Given the description of an element on the screen output the (x, y) to click on. 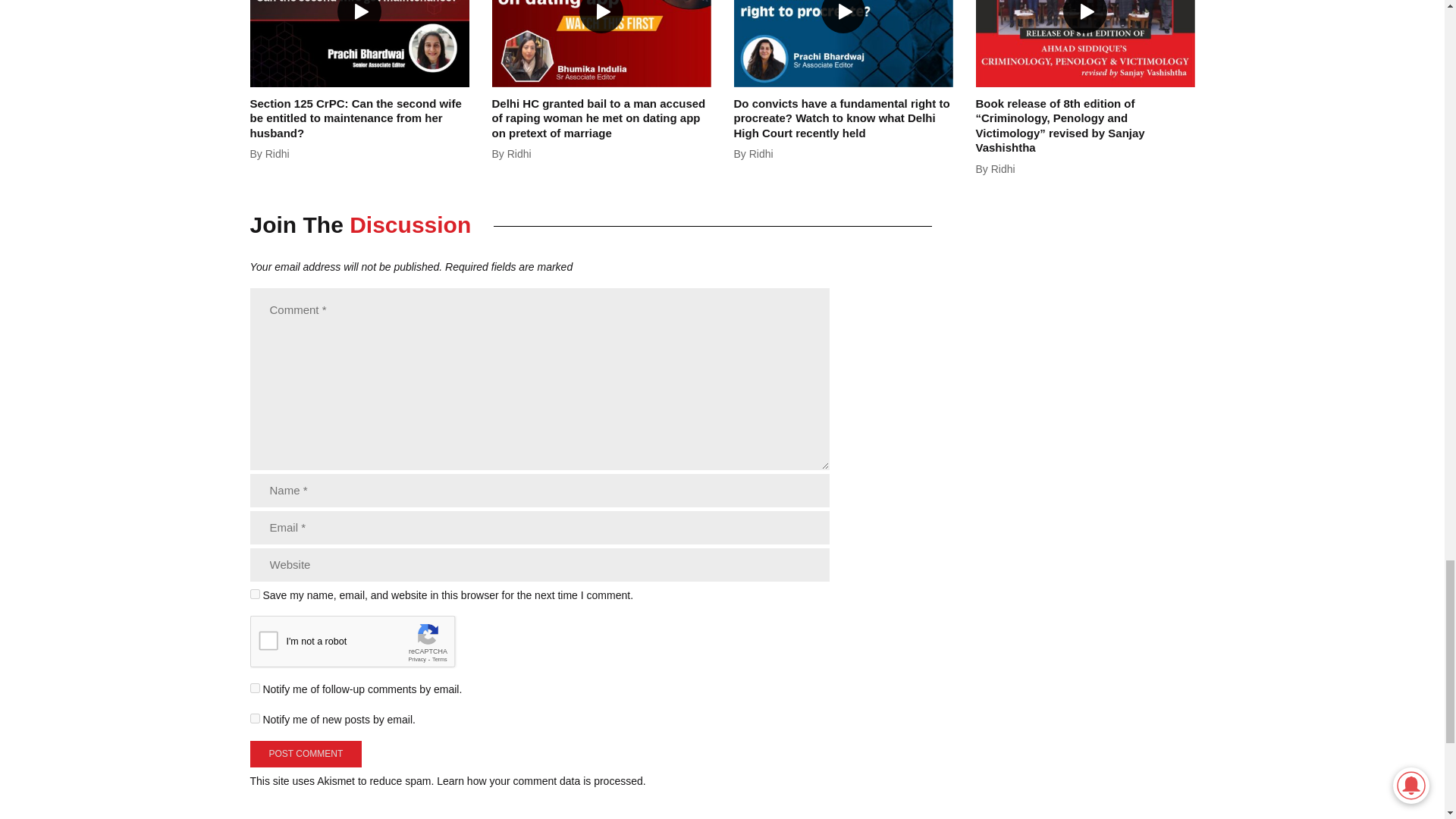
subscribe (255, 687)
yes (255, 593)
Post Comment (306, 754)
subscribe (255, 718)
